Given the description of an element on the screen output the (x, y) to click on. 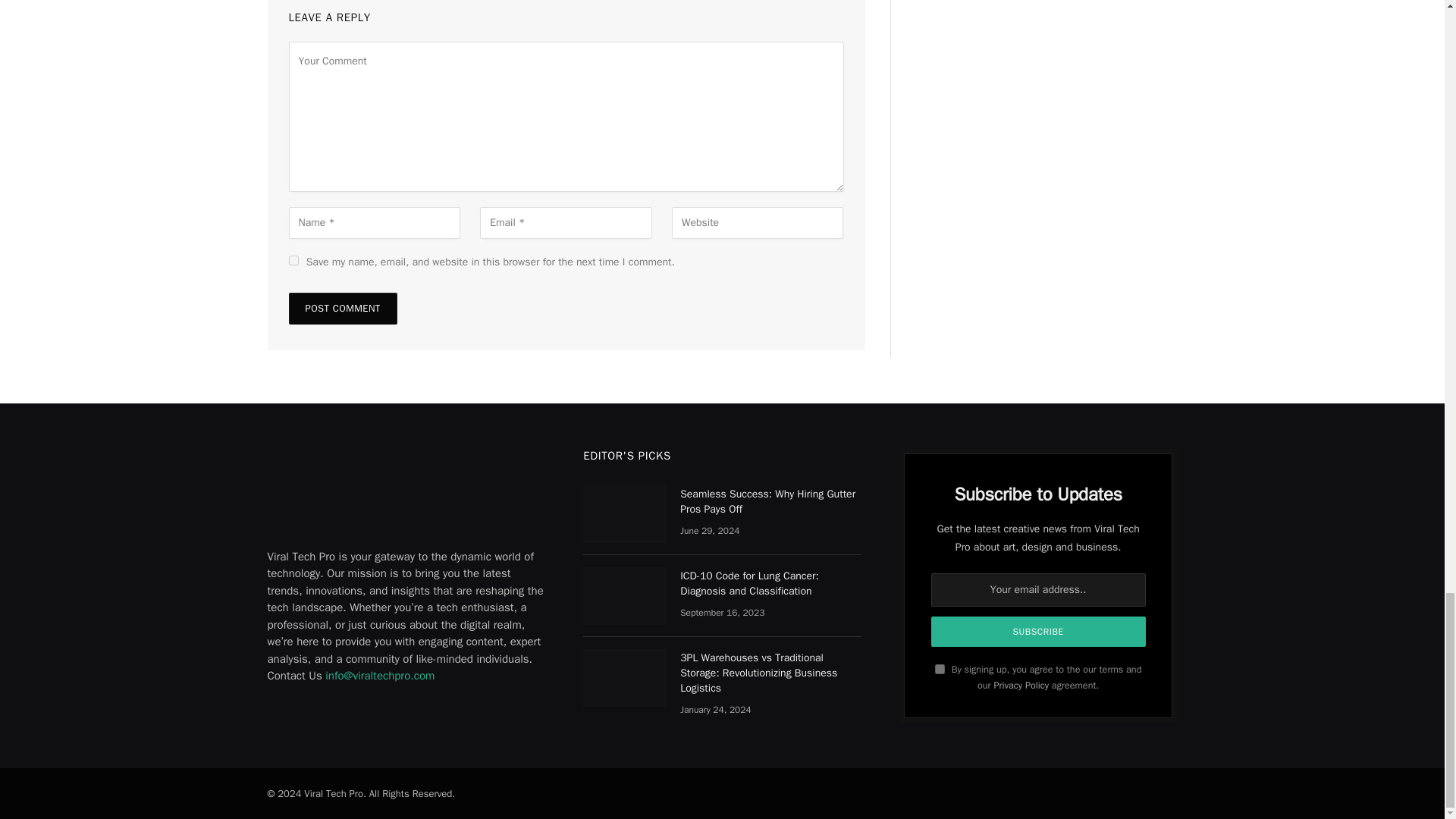
Post Comment (342, 308)
yes (293, 260)
Post Comment (342, 308)
on (939, 669)
Subscribe (1038, 631)
